Given the description of an element on the screen output the (x, y) to click on. 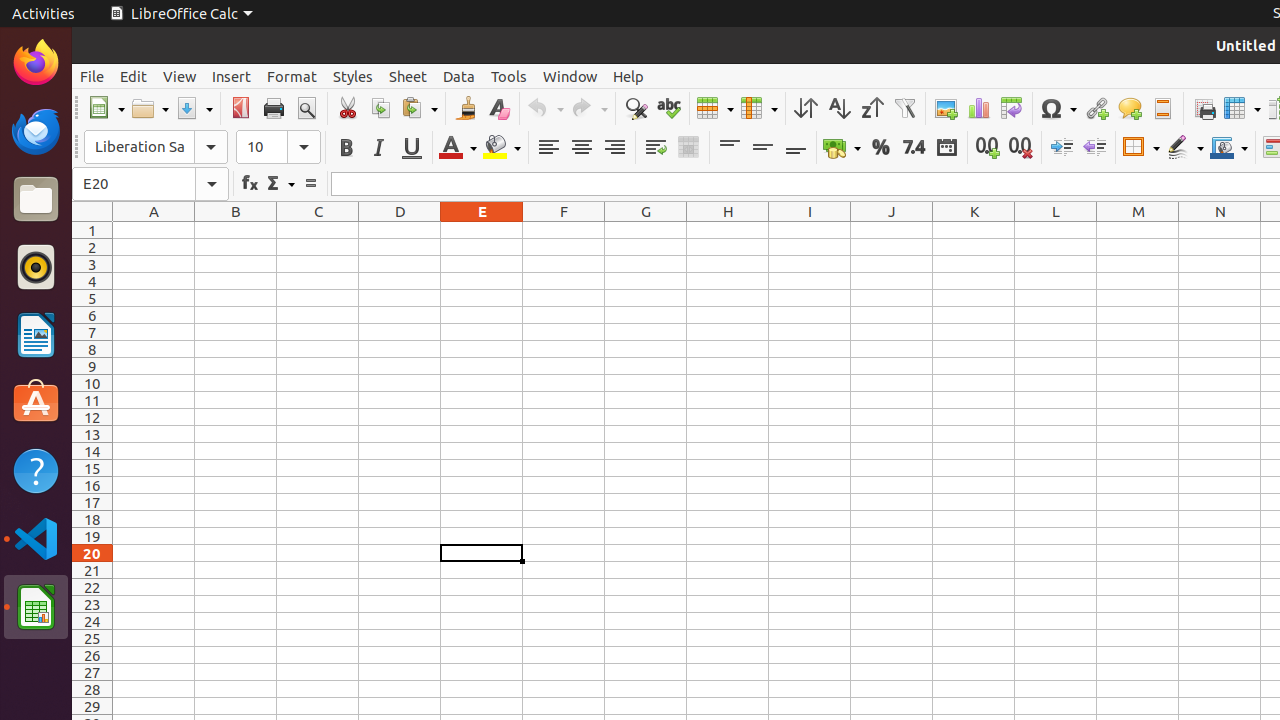
Increase Element type: push-button (1061, 147)
Undo Element type: push-button (545, 108)
Row Element type: push-button (715, 108)
Decrease Element type: push-button (1094, 147)
